Given the description of an element on the screen output the (x, y) to click on. 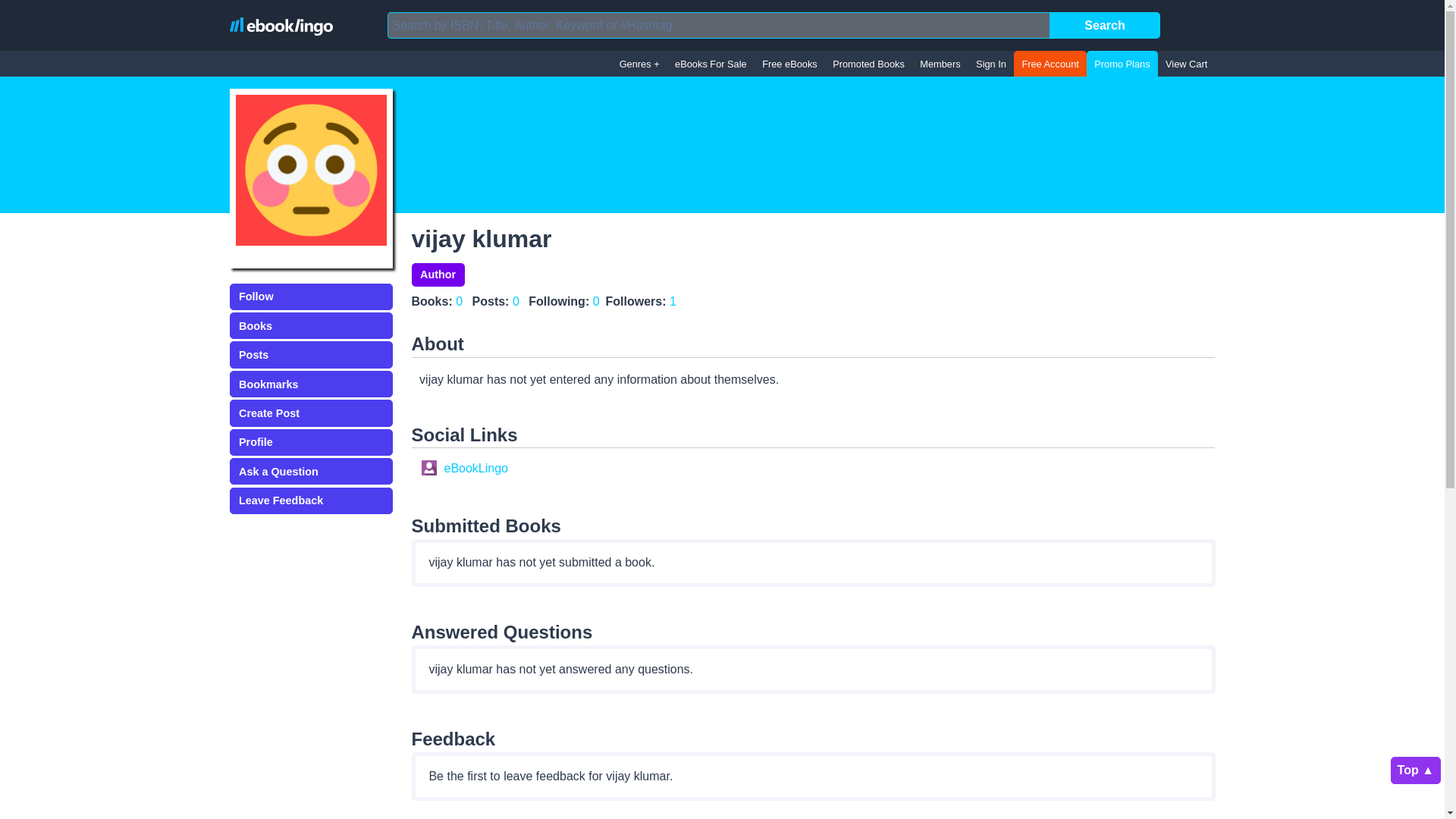
eBooks For Sale (710, 63)
Create a Free eBookLingo Account Link (1049, 63)
Free eBooks (789, 63)
Promo Plans (1121, 63)
View Cart (1186, 63)
Search (1104, 25)
All Free eBooks on eBookLingo Link (789, 63)
Promoted Books (868, 63)
Book Promotional Plans Link (1121, 63)
Sign In Link (990, 63)
Genres (638, 63)
eBookLingo (279, 25)
All eBooks For Sale on eBookLingo Link (710, 63)
View Your eBookLingo Shopping Cart Link (1186, 63)
eBookLingo Member Link (940, 63)
